Given the description of an element on the screen output the (x, y) to click on. 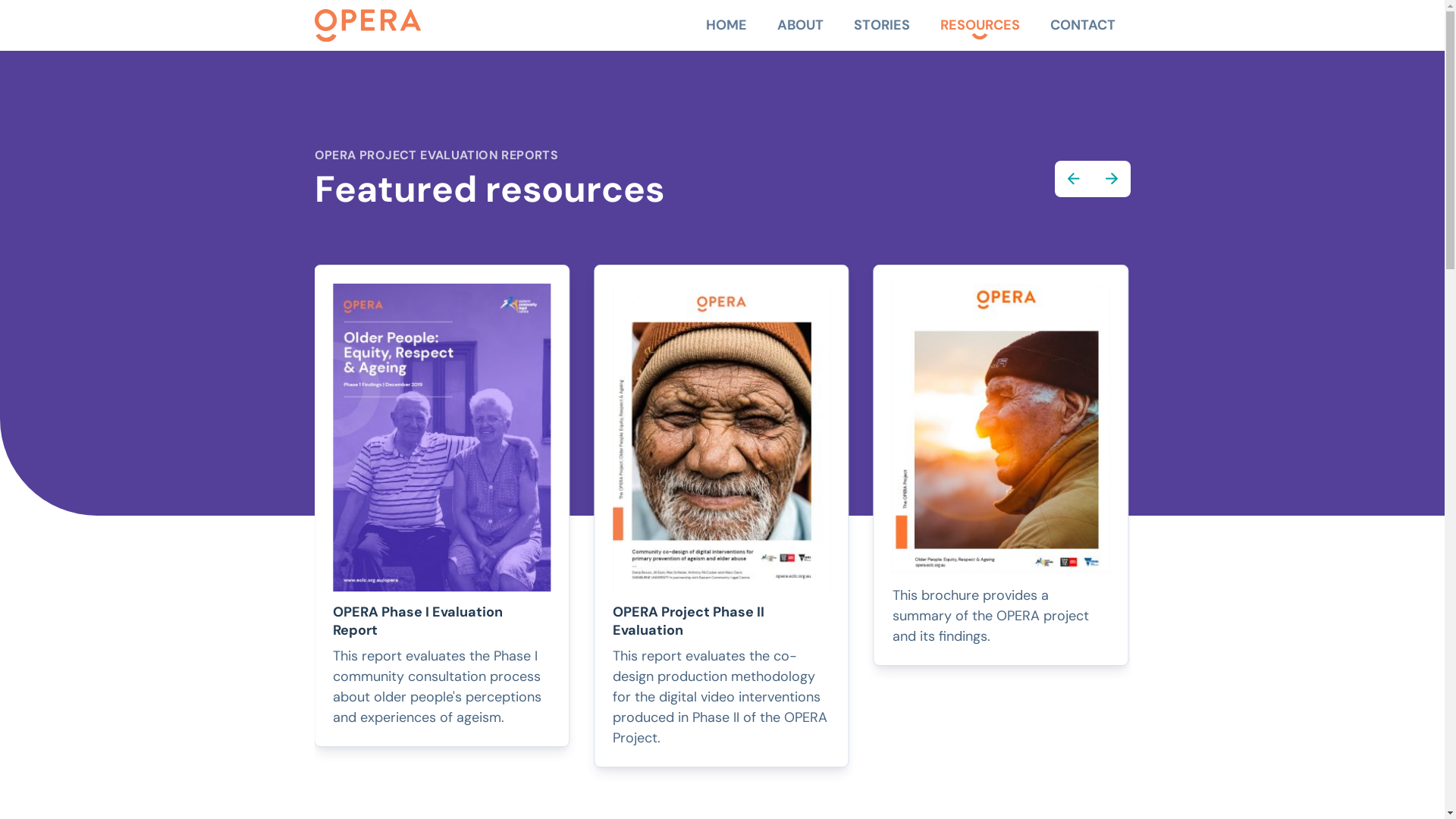
RESOURCES Element type: text (980, 25)
STORIES Element type: text (881, 25)
ABOUT Element type: text (799, 25)
CONTACT Element type: text (1081, 25)
HOME Element type: text (725, 25)
OPERA Element type: hover (366, 25)
